Given the description of an element on the screen output the (x, y) to click on. 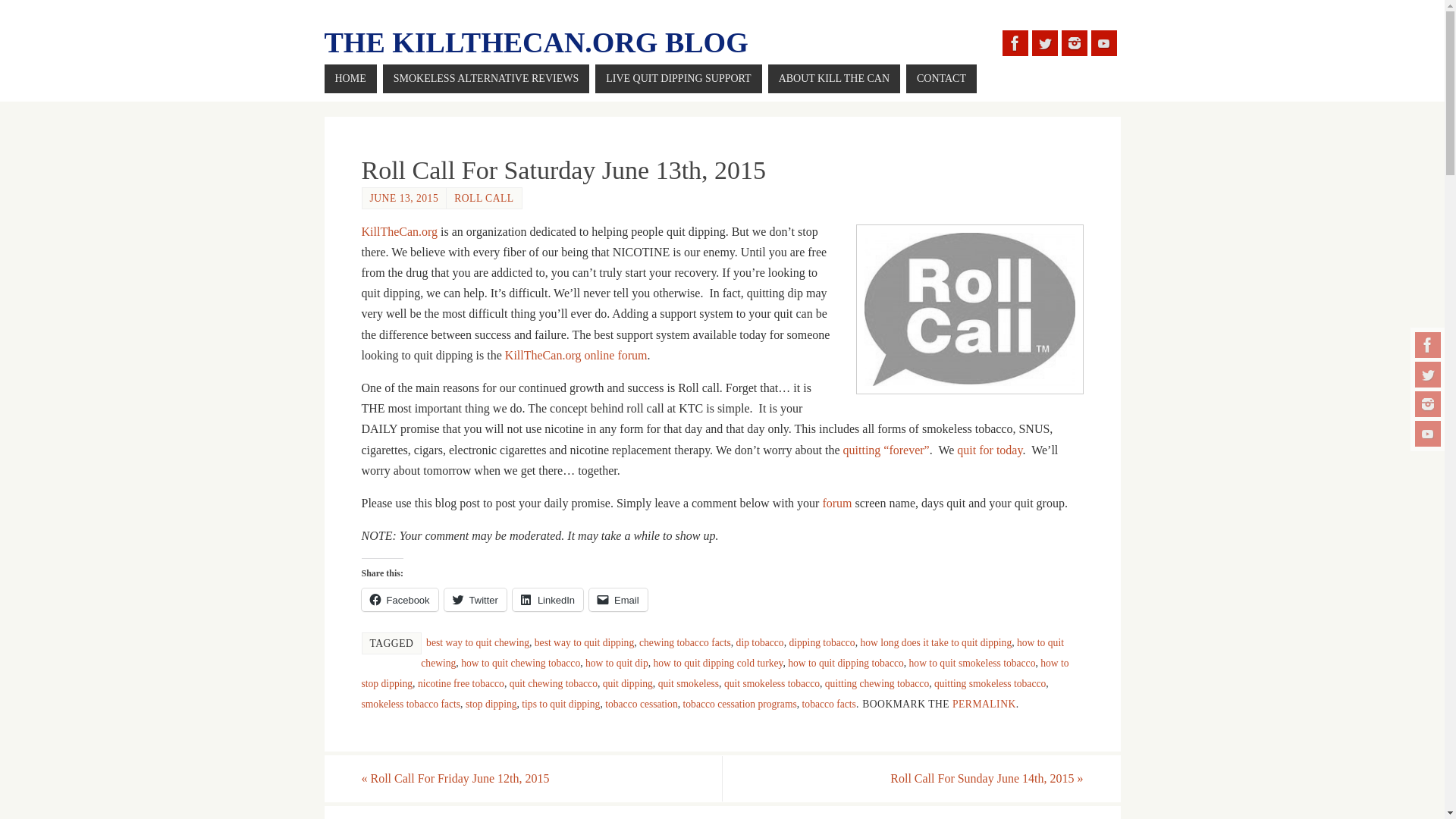
Click to share on LinkedIn (547, 599)
how to quit dipping cold turkey (718, 663)
JUNE 13, 2015 (404, 197)
dipping tobacco (821, 642)
Facebook (399, 599)
how to quit dip (616, 663)
YouTube (1103, 43)
best way to quit chewing (477, 642)
KillTheCan.org online forum (576, 354)
how to quit dipping tobacco (845, 663)
how long does it take to quit dipping (935, 642)
Instagram (1074, 43)
best way to quit dipping (583, 642)
Instagram (1428, 403)
SMOKELESS ALTERNATIVE REVIEWS (485, 78)
